Given the description of an element on the screen output the (x, y) to click on. 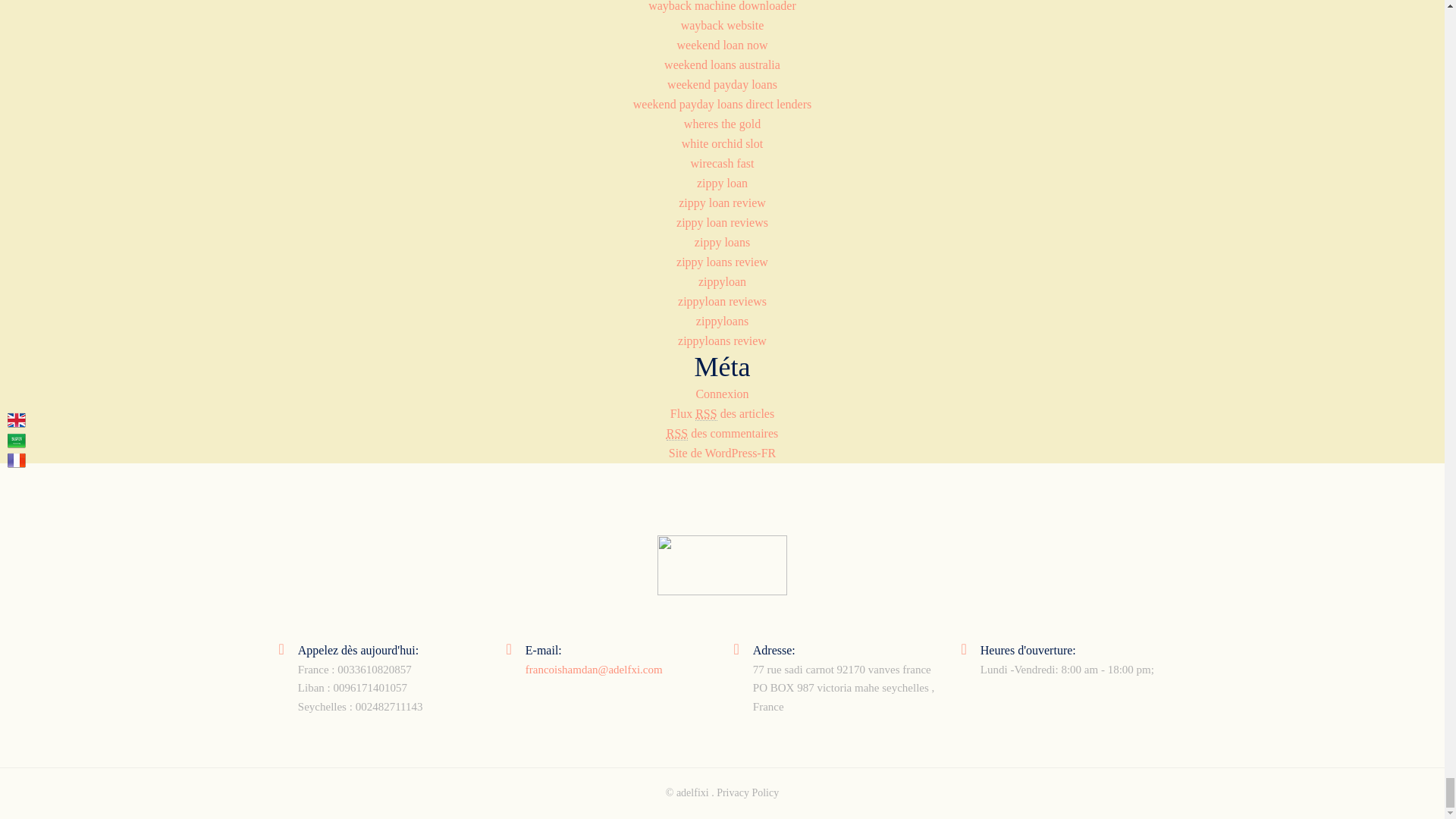
Really Simple Syndication (676, 433)
Really Simple Syndication (705, 413)
